Given the description of an element on the screen output the (x, y) to click on. 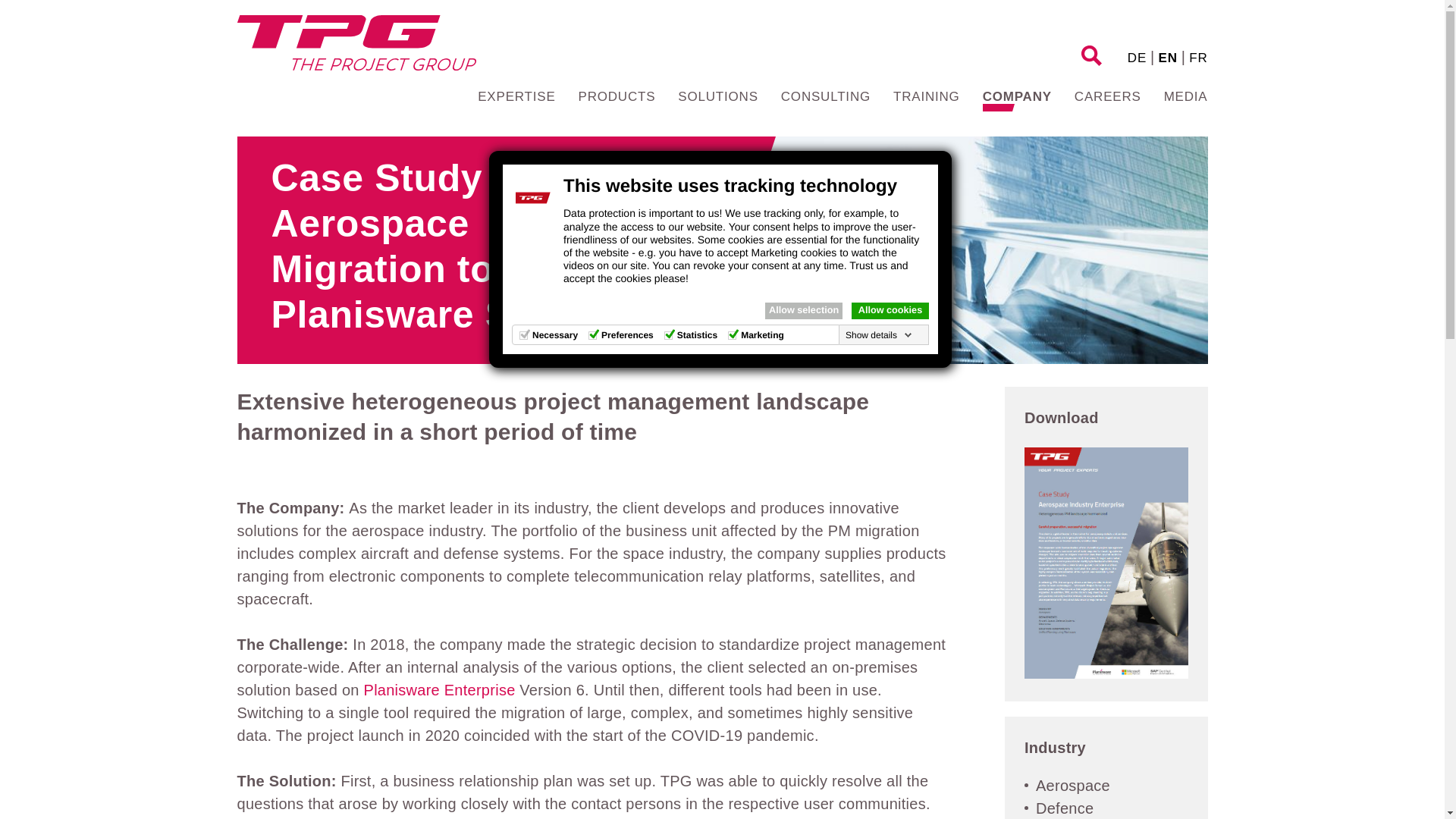
Allow cookies (889, 310)
Show details (879, 335)
Allow selection (804, 310)
